Given the description of an element on the screen output the (x, y) to click on. 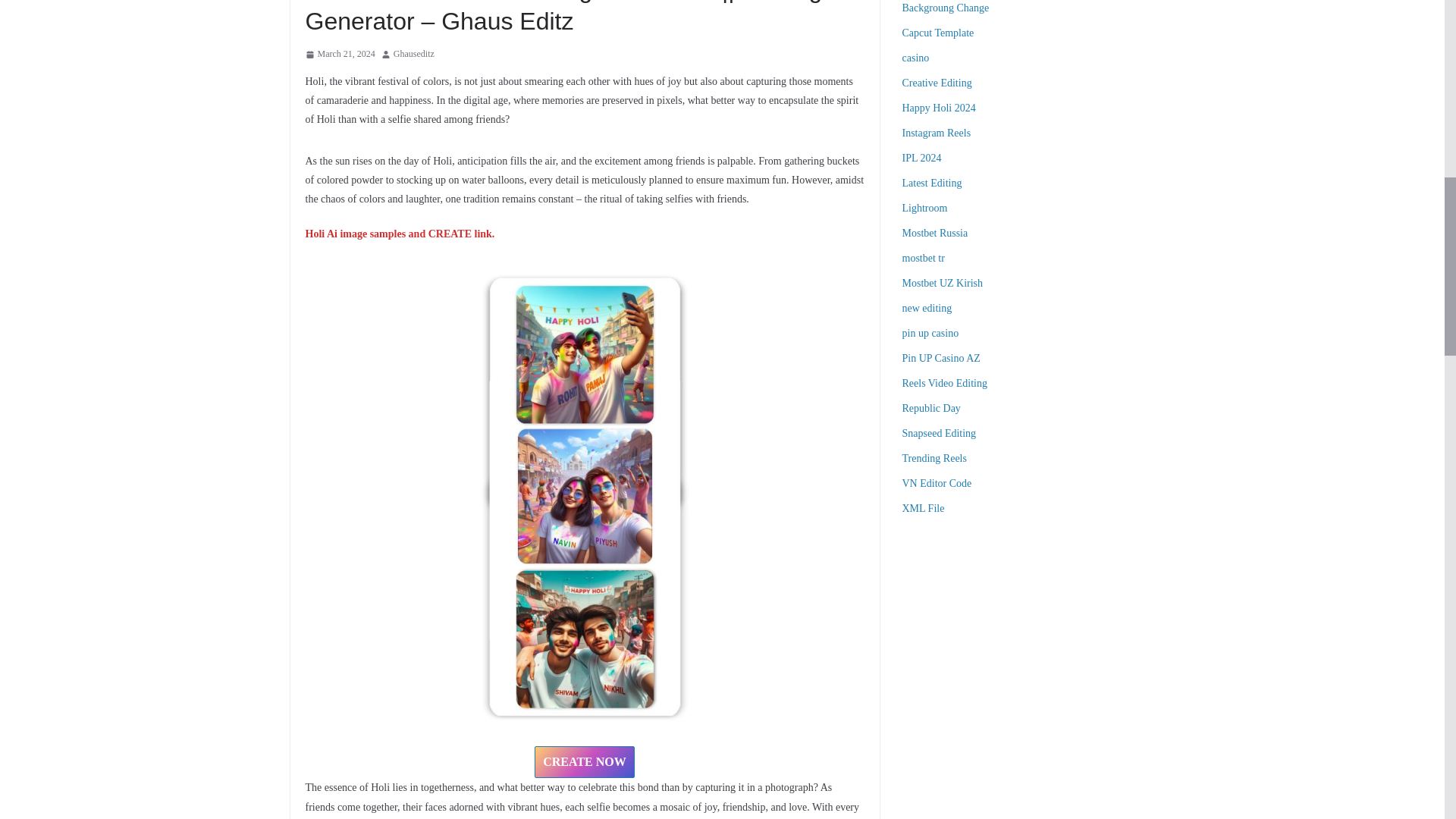
Happy Holi 2024 (938, 107)
casino (916, 57)
March 21, 2024 (339, 54)
Capcut Template (938, 32)
Ghauseditz (413, 54)
Creative Editing (937, 82)
Ghauseditz (413, 54)
Backgroung Change (946, 7)
3:26 am (339, 54)
CREATE NOW (584, 762)
